Given the description of an element on the screen output the (x, y) to click on. 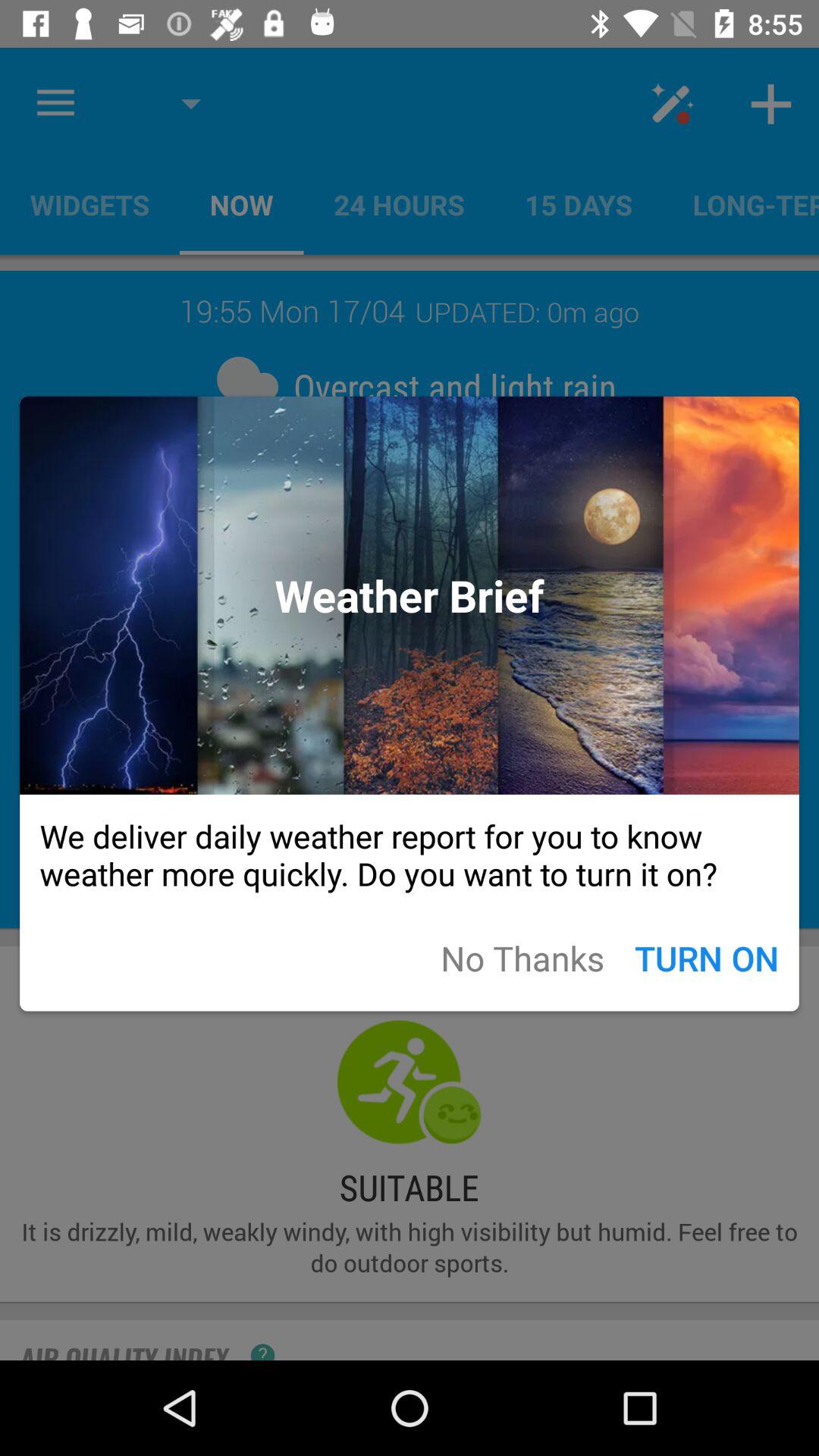
open icon next to the turn on (522, 958)
